Given the description of an element on the screen output the (x, y) to click on. 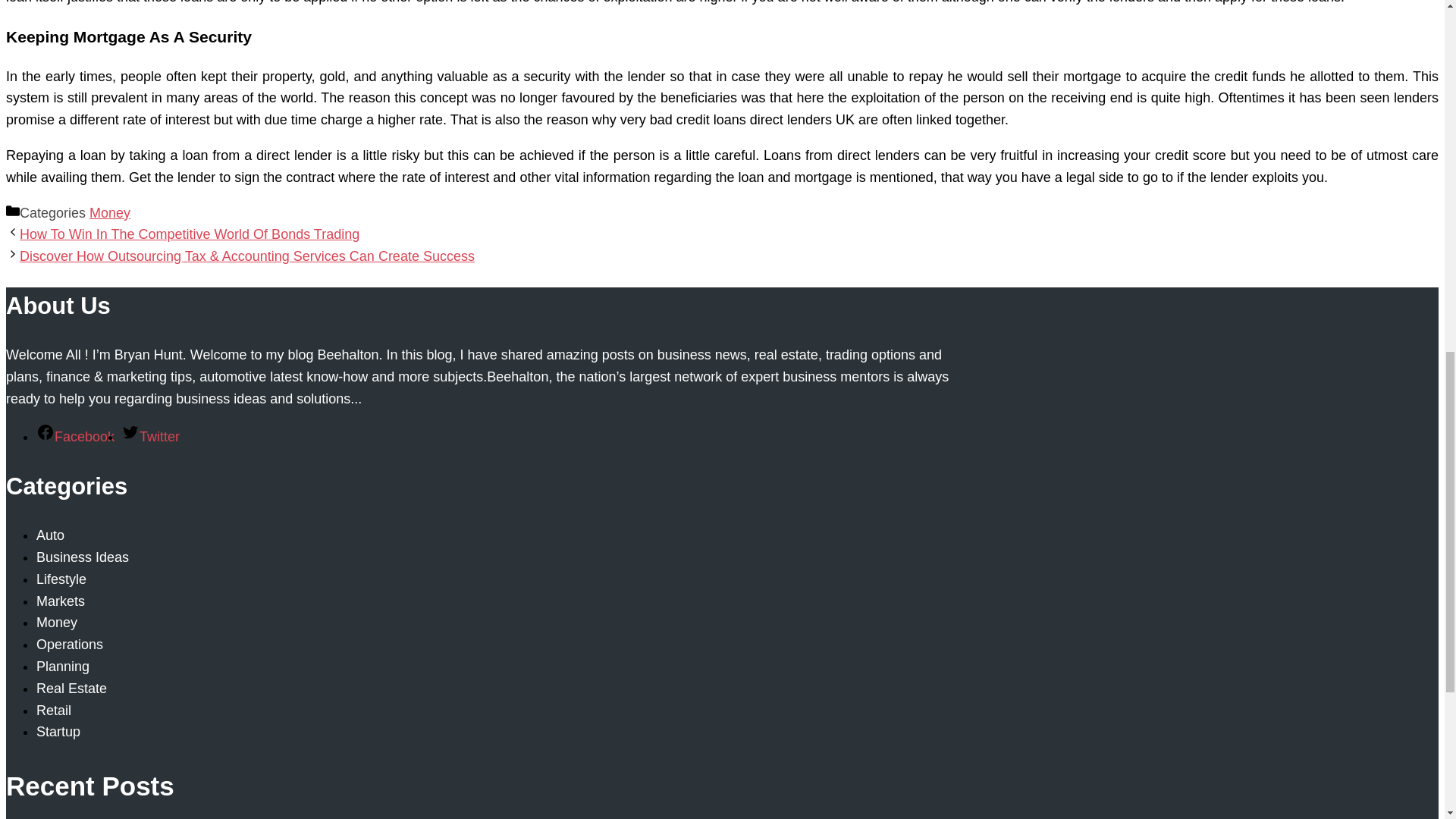
Money (109, 212)
Auto (50, 534)
Money (56, 622)
How To Win In The Competitive World Of Bonds Trading (189, 233)
Facebook (75, 436)
Markets (60, 601)
Business Ideas (82, 557)
Scroll back to top (1406, 720)
Real Estate (71, 688)
Retail (53, 710)
Twitter (149, 436)
Planning (62, 666)
Operations (69, 644)
Lifestyle (60, 579)
Startup (58, 731)
